Given the description of an element on the screen output the (x, y) to click on. 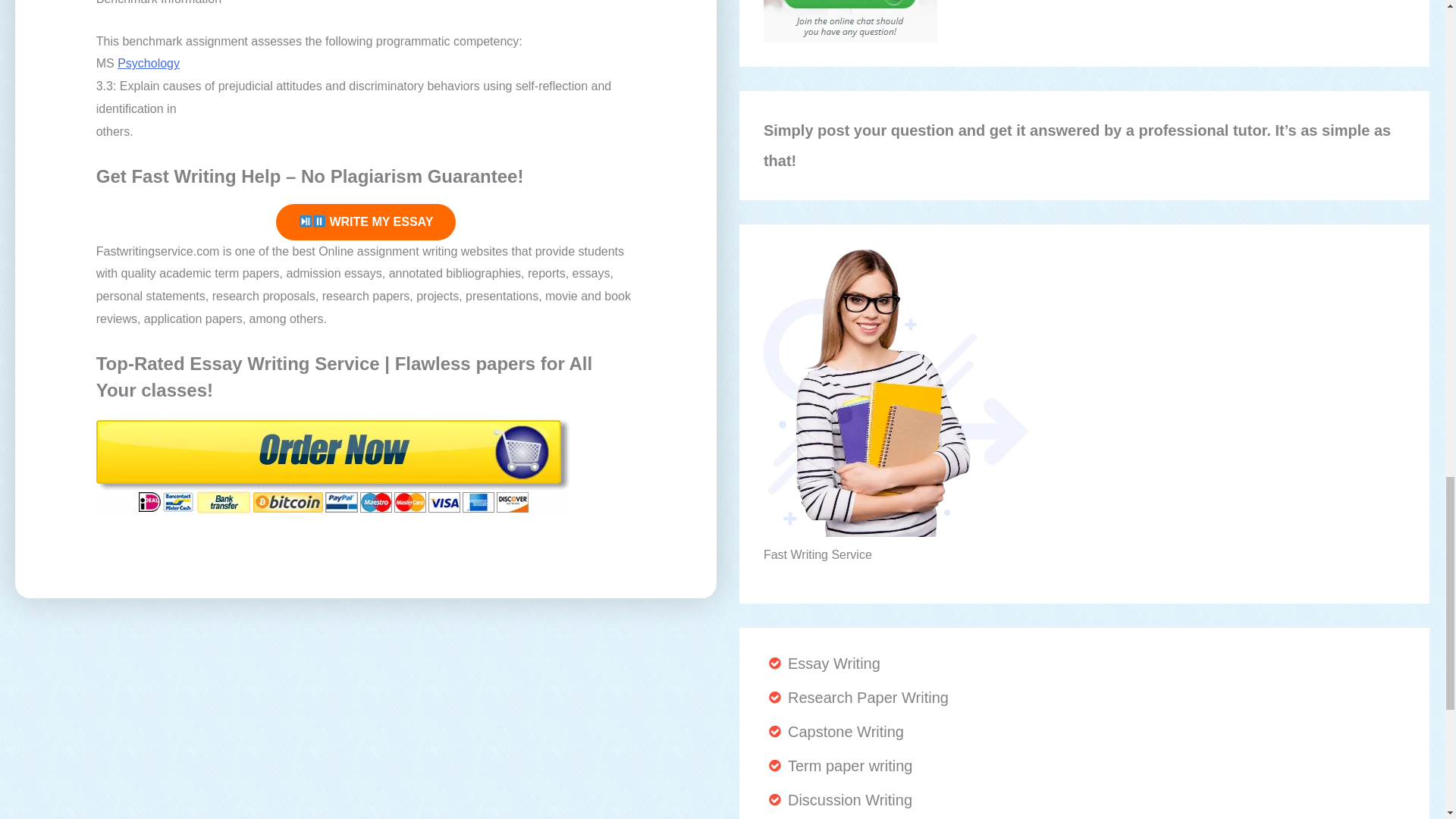
Psychology (148, 62)
WRITE MY ESSAY (366, 221)
